Given the description of an element on the screen output the (x, y) to click on. 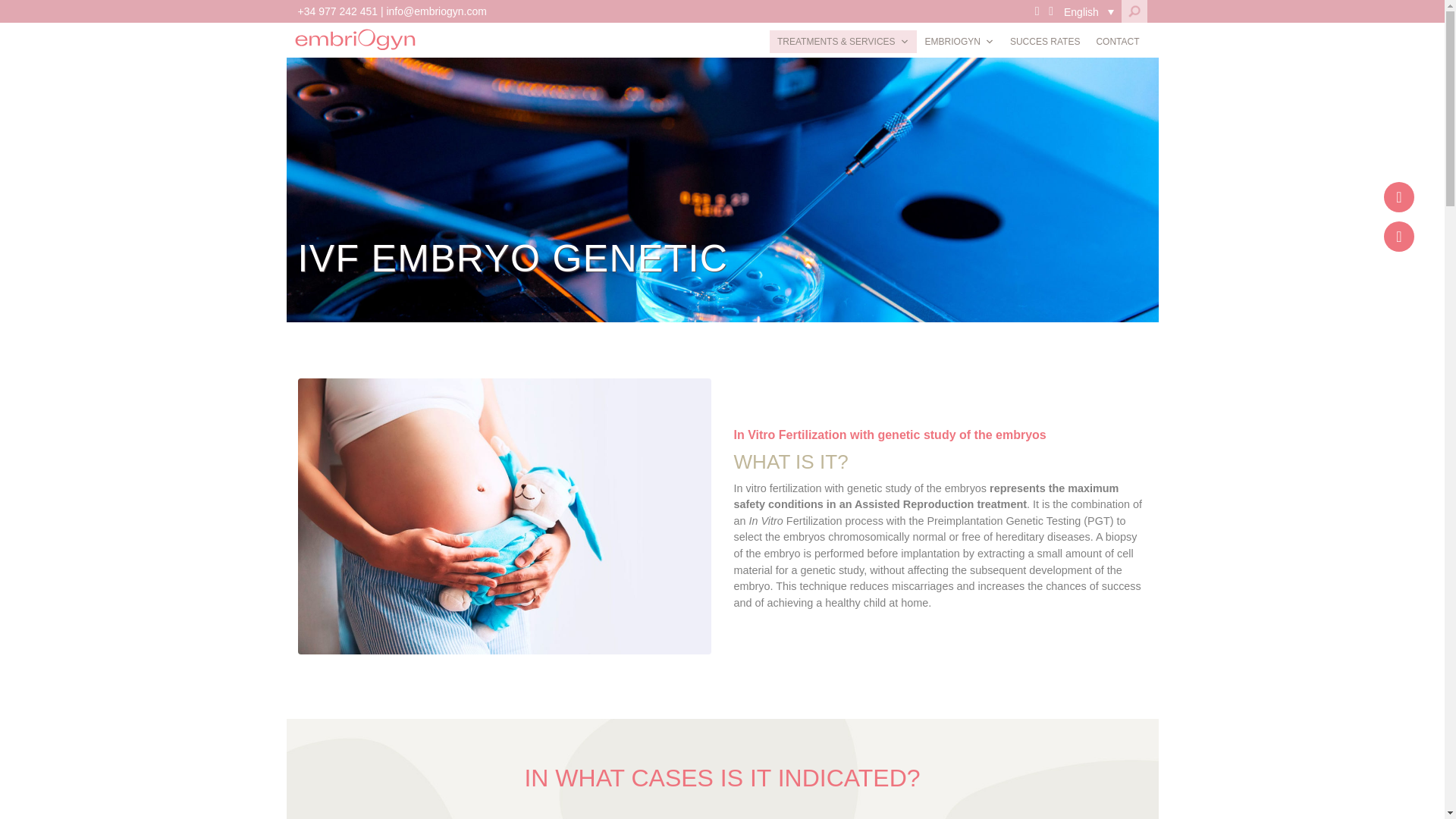
Search for: (1134, 11)
Cerca (24, 13)
English (1089, 11)
